Given the description of an element on the screen output the (x, y) to click on. 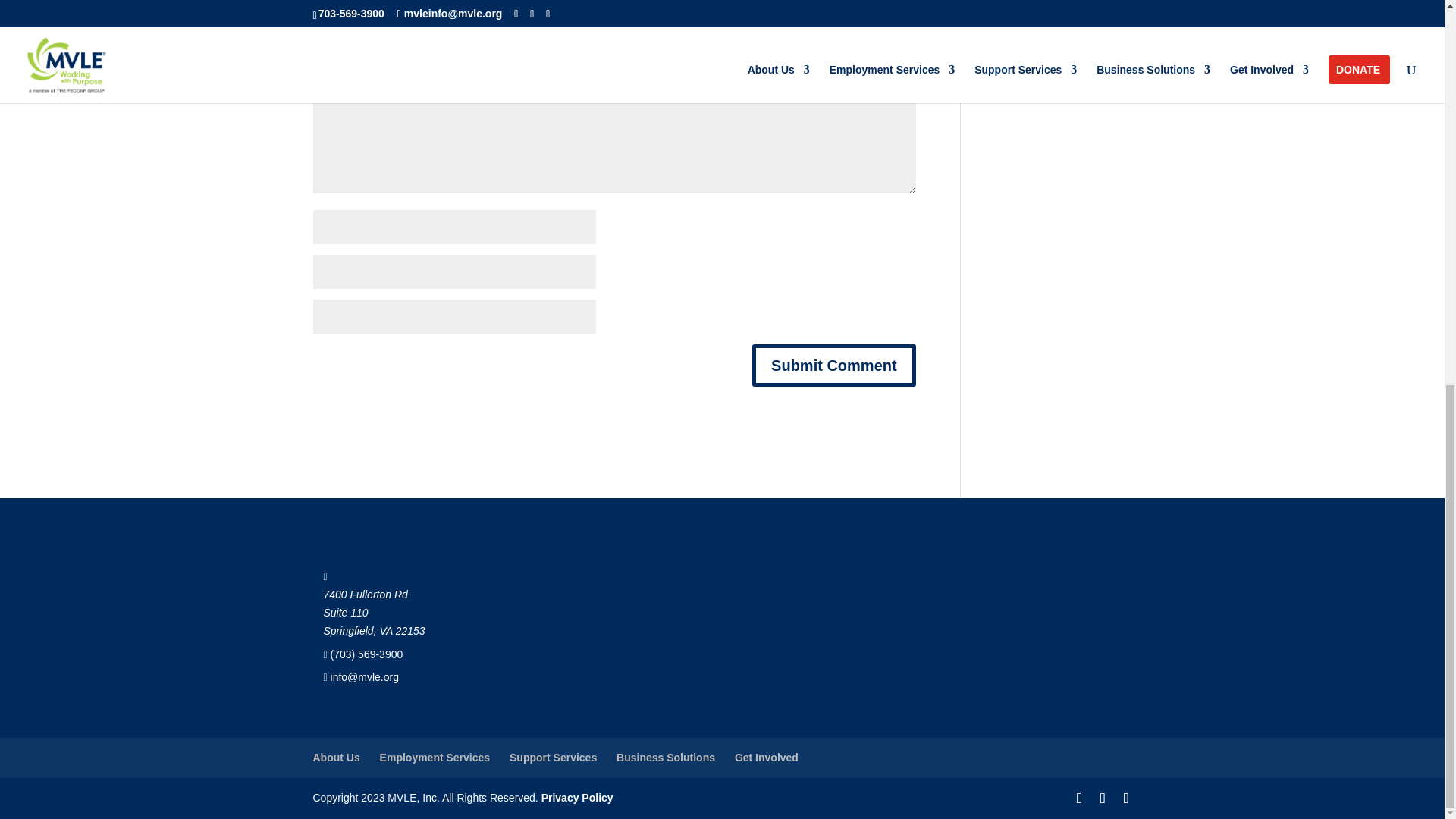
Submit Comment (833, 364)
